Given the description of an element on the screen output the (x, y) to click on. 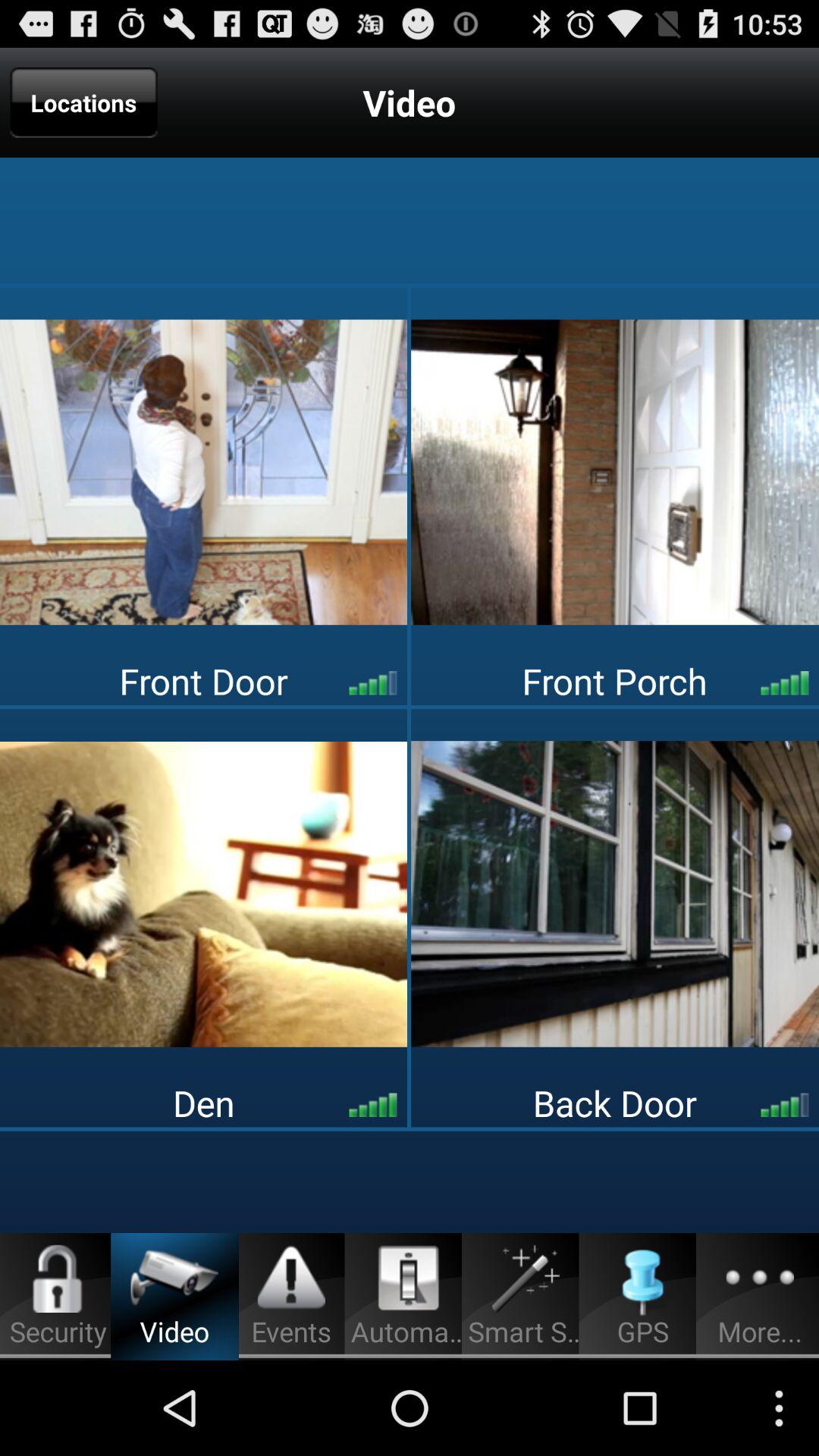
open front porch cam (615, 471)
